Given the description of an element on the screen output the (x, y) to click on. 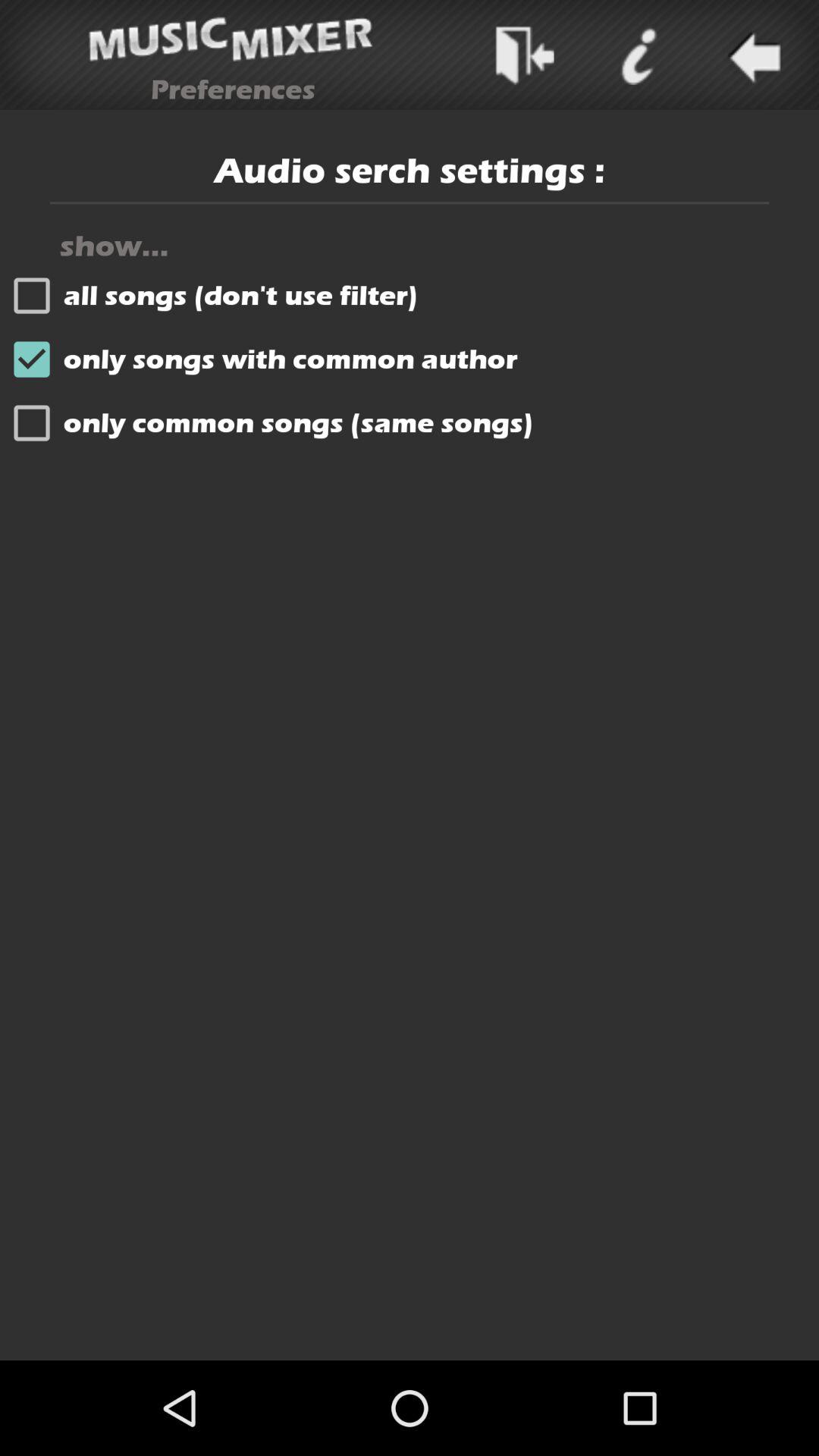
next putton (523, 54)
